Given the description of an element on the screen output the (x, y) to click on. 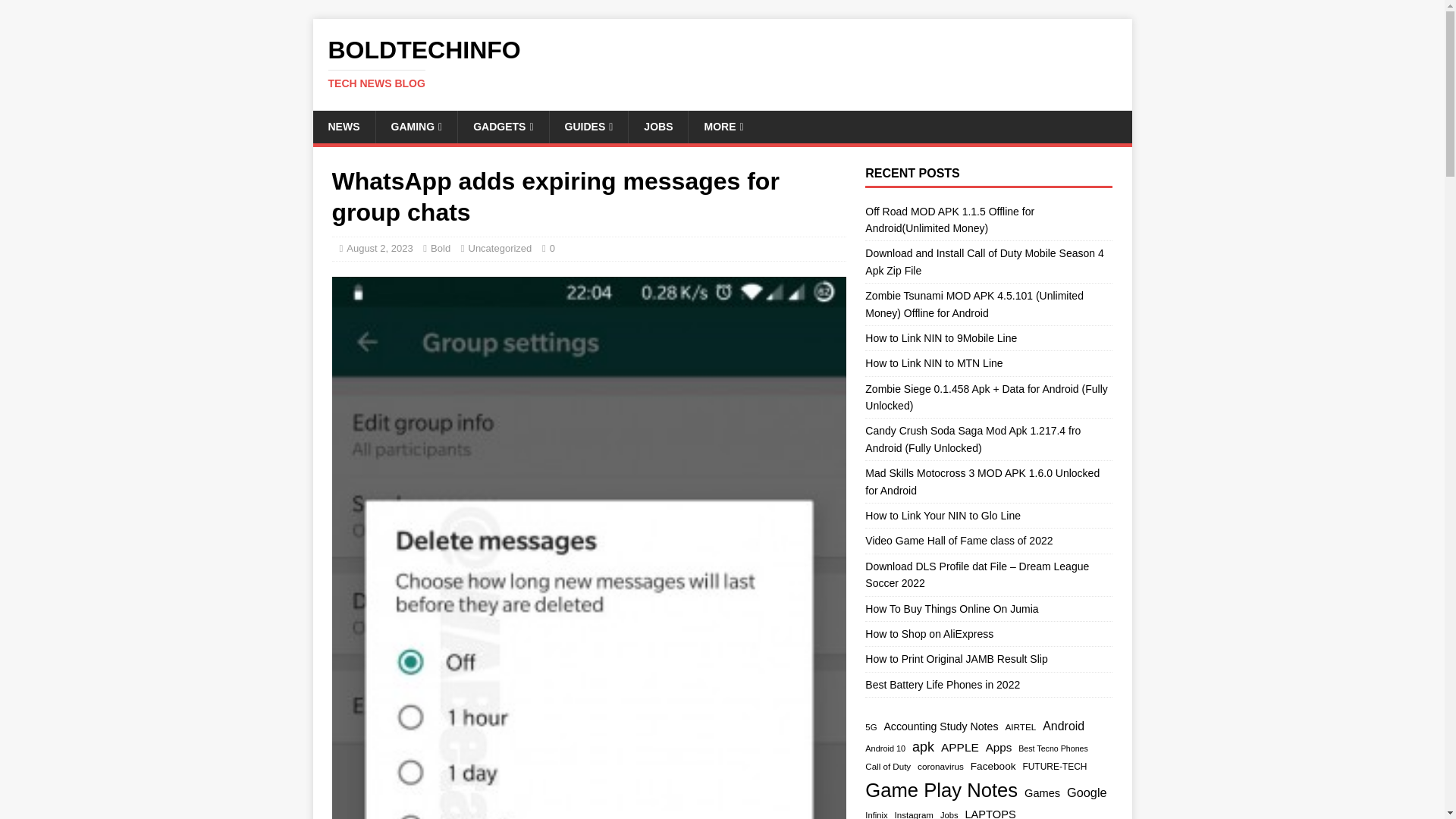
BOLDTECHINFO (721, 63)
0 (552, 247)
